Given the description of an element on the screen output the (x, y) to click on. 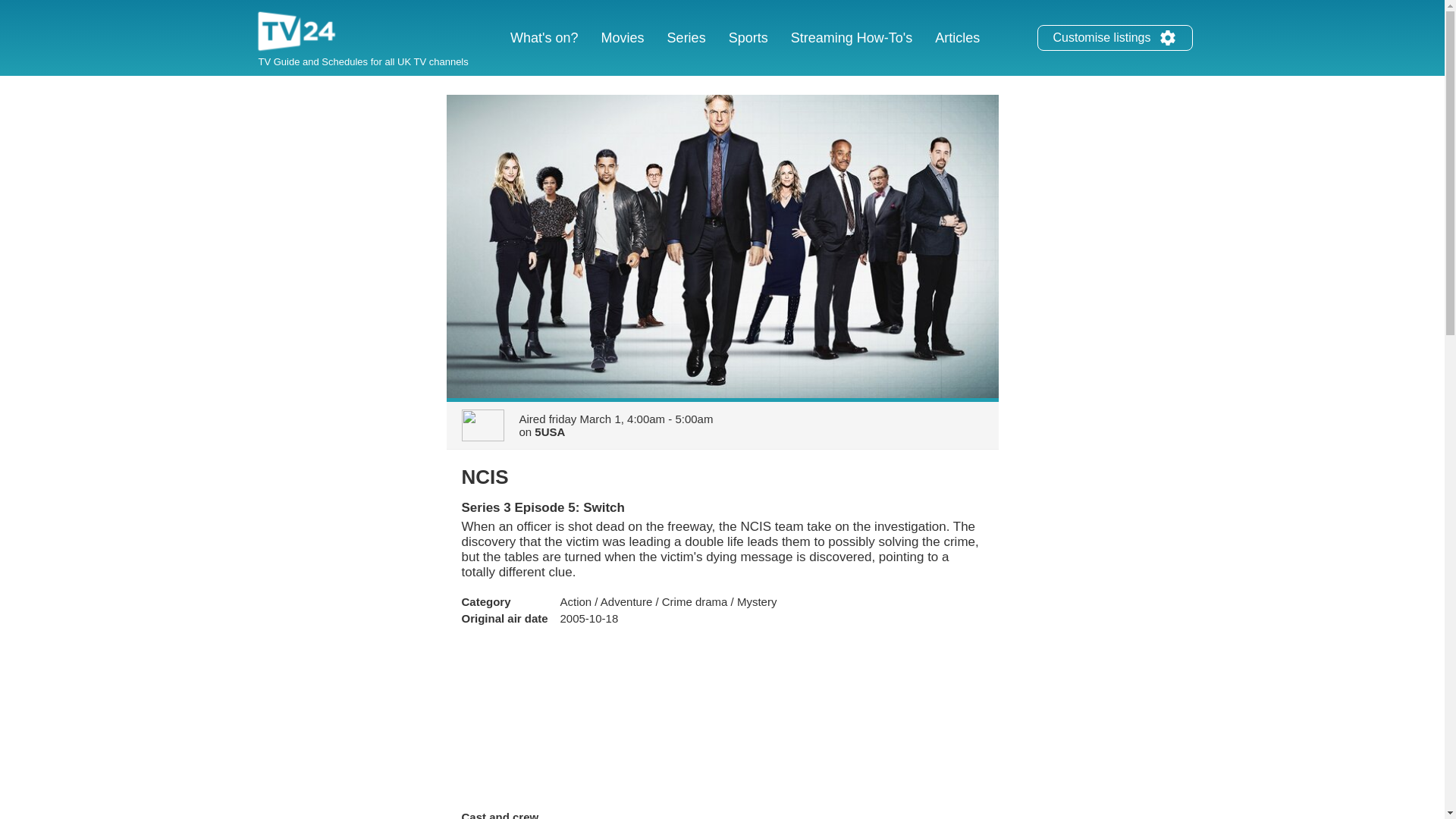
Sports (748, 37)
Customise listings (1114, 37)
Series (686, 37)
Articles (957, 37)
TV24.co.uk (296, 33)
5USA (549, 431)
Customise listings (1167, 37)
Streaming How-To's (852, 37)
What's on? (543, 37)
Movies (621, 37)
